Given the description of an element on the screen output the (x, y) to click on. 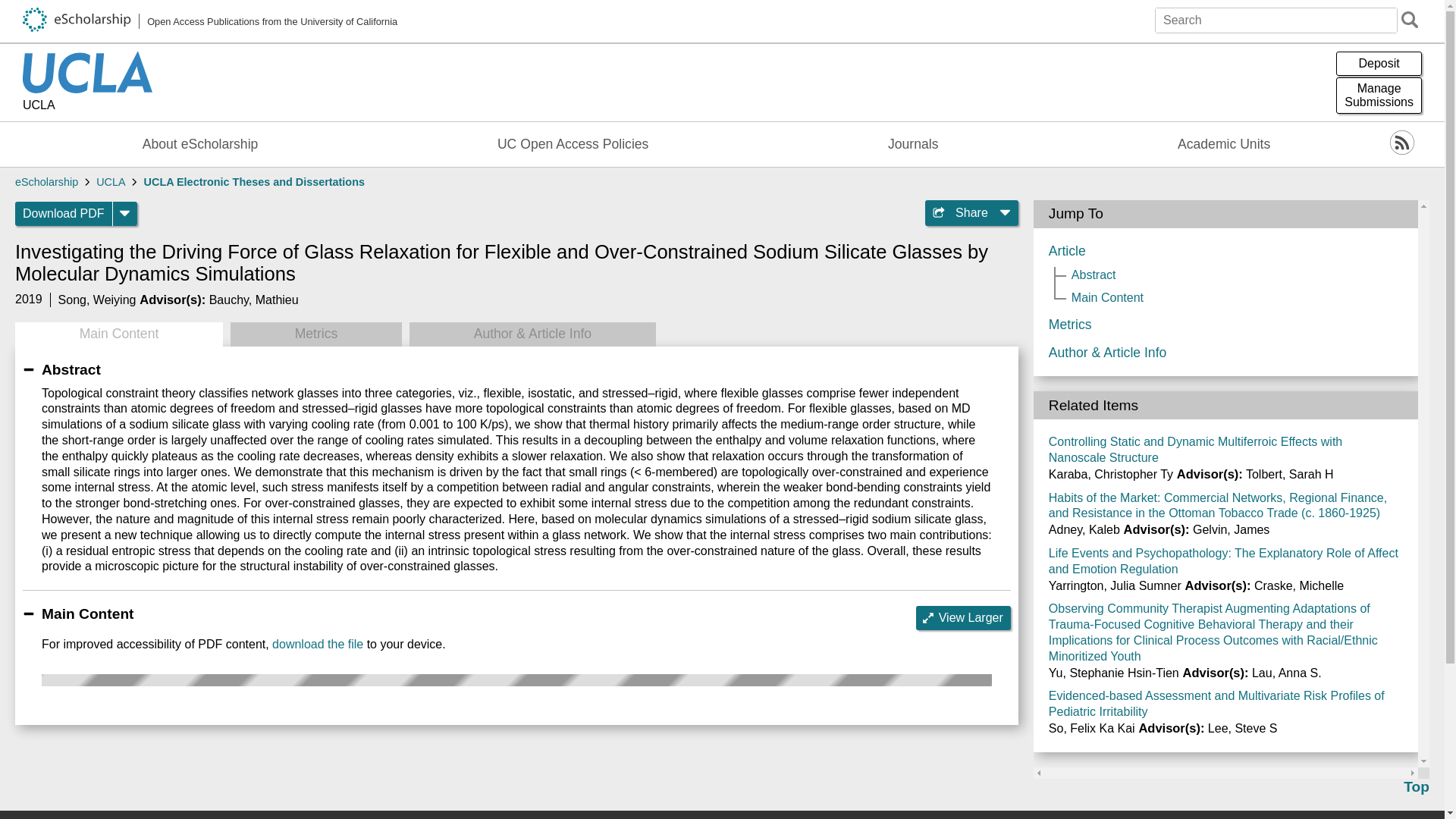
UC Open Access Policies (572, 143)
About eScholarship (200, 143)
UCLA (87, 105)
UCLA (110, 182)
Download PDF (63, 213)
Academic Units (1224, 143)
Bauchy, Mathieu (1379, 94)
Open Access Publications from the University of California (253, 299)
Main Content (210, 21)
